Given the description of an element on the screen output the (x, y) to click on. 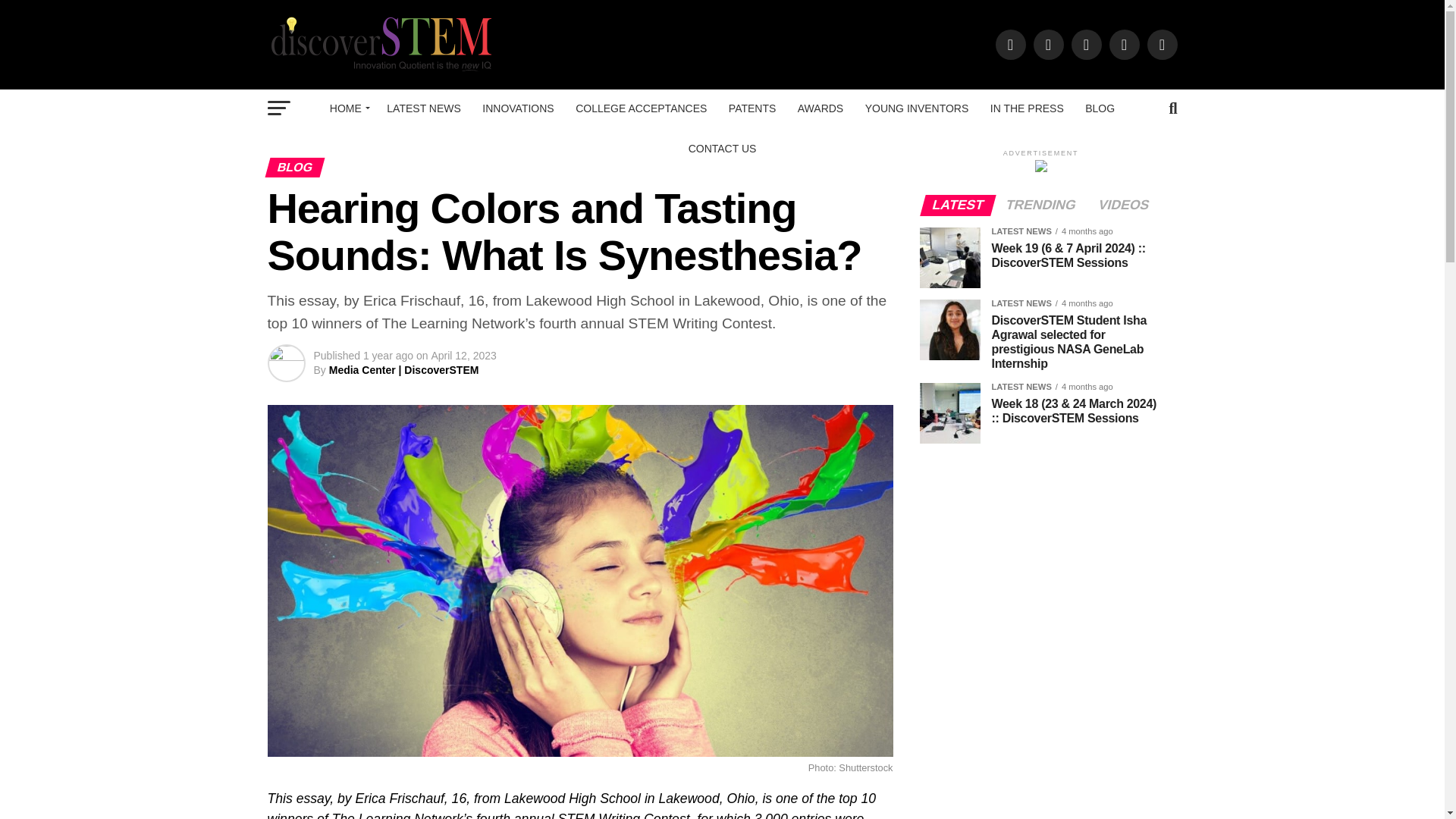
INNOVATIONS (517, 108)
HOME (347, 108)
COLLEGE ACCEPTANCES (641, 108)
LATEST NEWS (423, 108)
